Given the description of an element on the screen output the (x, y) to click on. 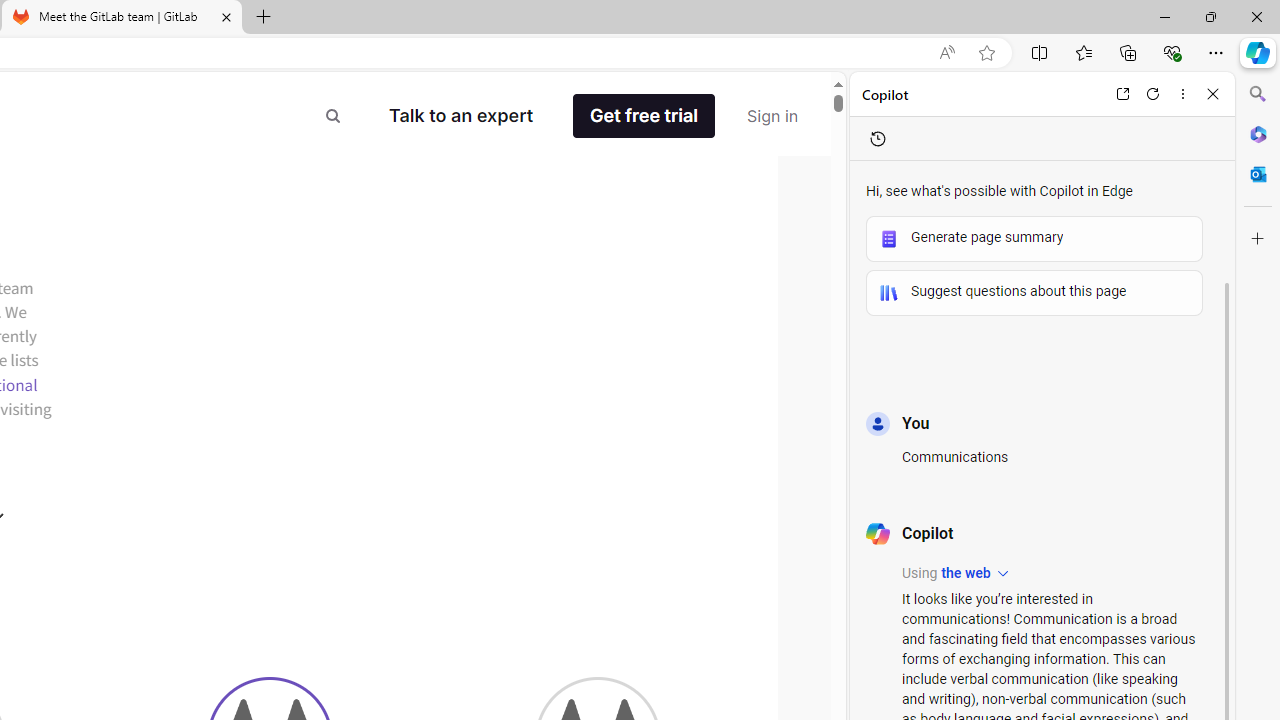
Talk to an expert (461, 115)
